Given the description of an element on the screen output the (x, y) to click on. 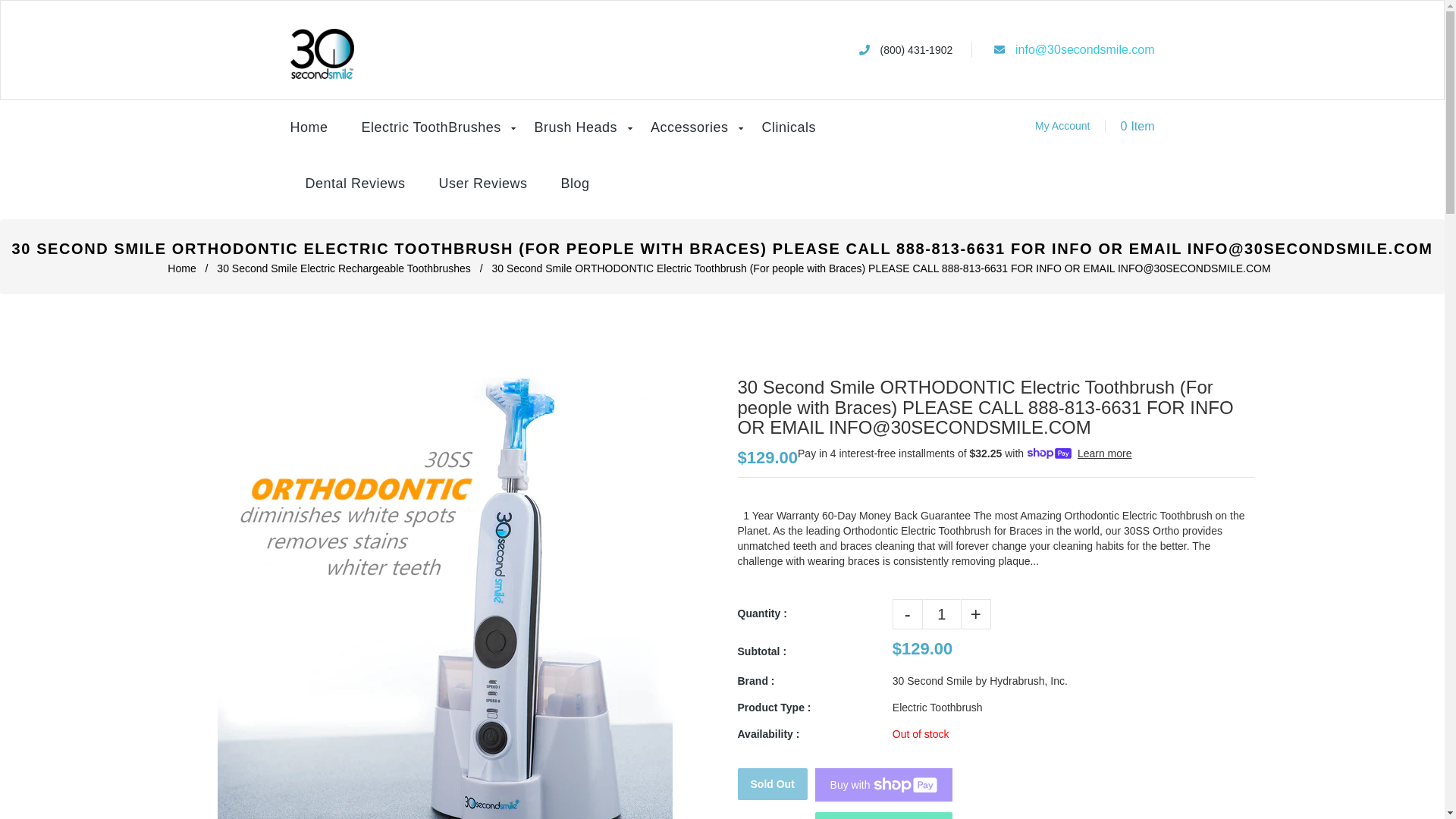
User Reviews Element type: text (482, 184)
Home Element type: text (315, 128)
Clinicals Element type: text (788, 128)
Dental Reviews Element type: text (354, 184)
Accessories Element type: text (689, 128)
0
Item Element type: text (1125, 126)
Brush Heads Element type: text (576, 128)
30 Second Smile Electric Rechargeable Toothbrushes Element type: text (344, 268)
Electric ToothBrushes Element type: text (430, 128)
info@30secondsmile.com Element type: text (1084, 50)
My Account Element type: text (1062, 125)
Sold Out Element type: text (771, 784)
Blog Element type: text (574, 184)
Home Element type: text (182, 268)
